Given the description of an element on the screen output the (x, y) to click on. 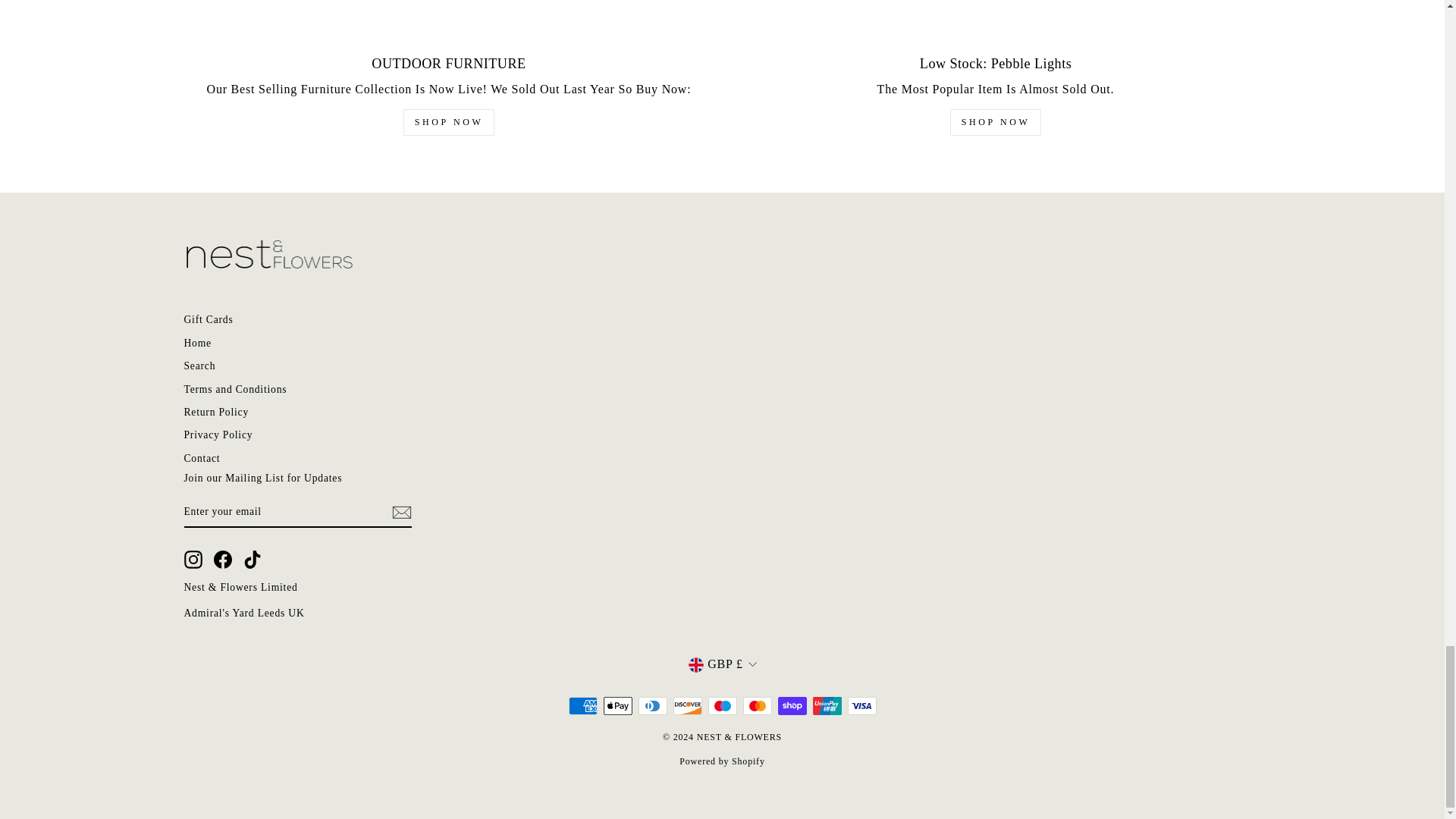
American Express (582, 705)
Diners Club (652, 705)
Discover (686, 705)
Apple Pay (617, 705)
